Given the description of an element on the screen output the (x, y) to click on. 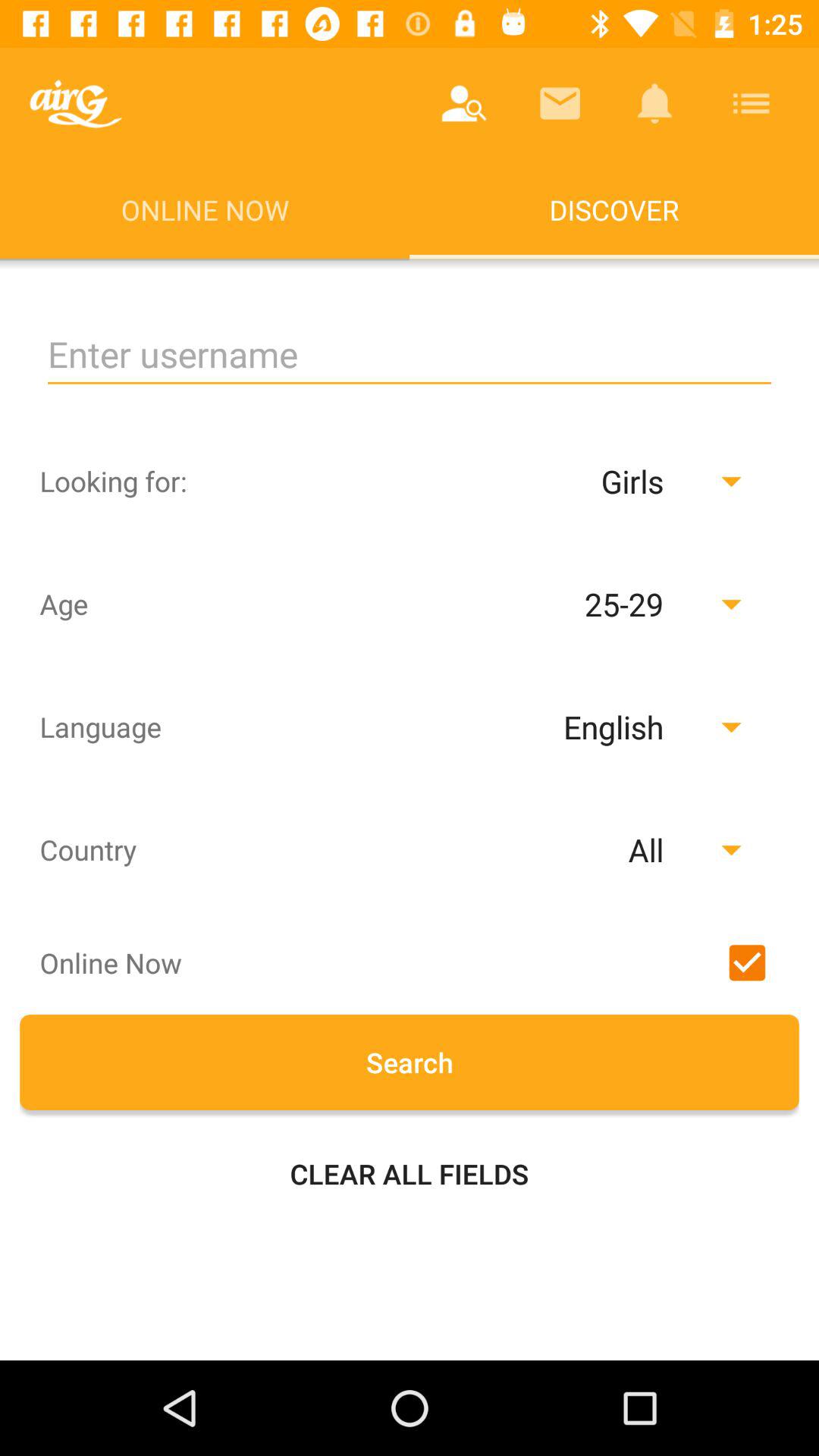
open the app next to the discover (75, 103)
